Given the description of an element on the screen output the (x, y) to click on. 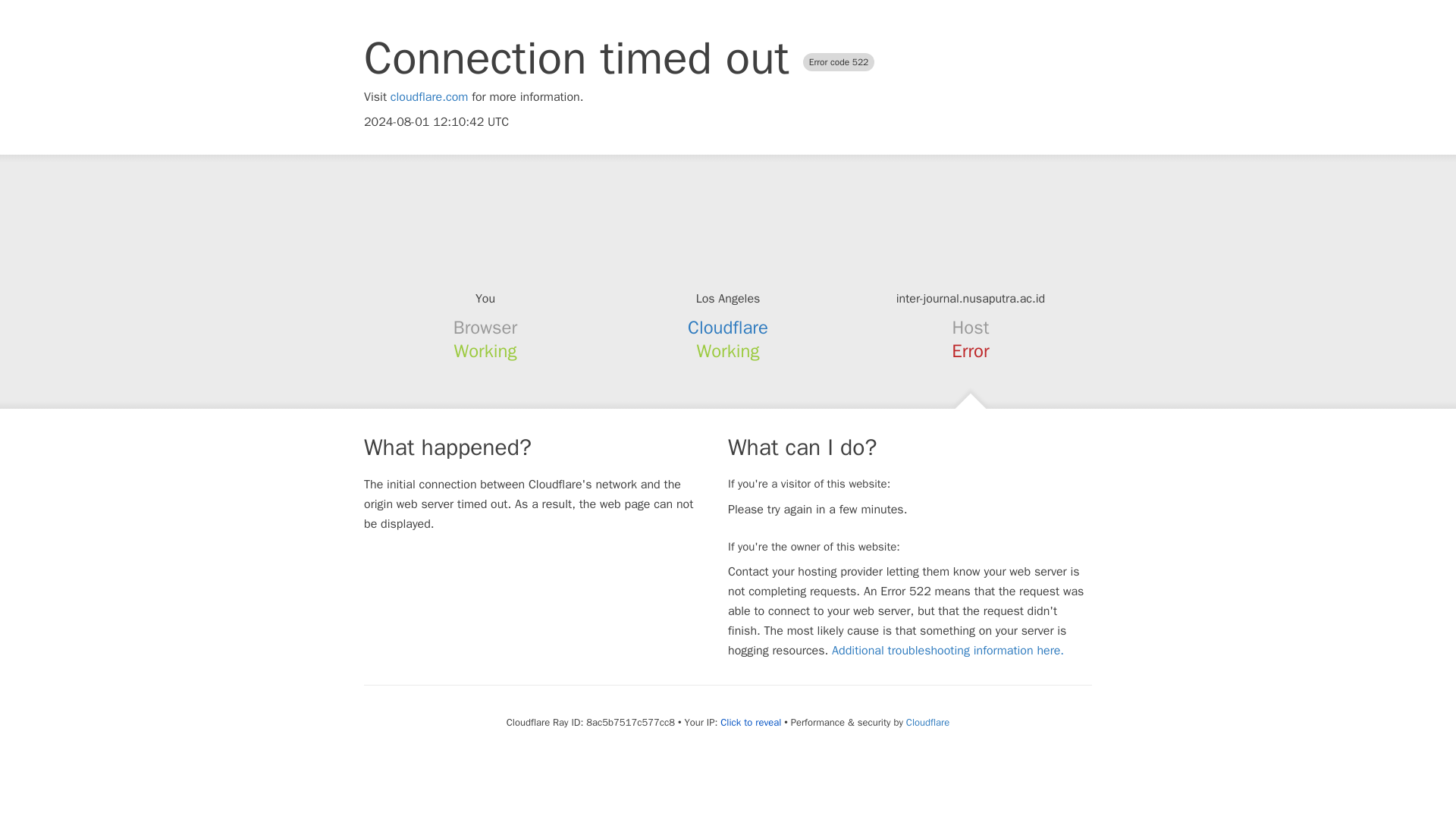
Additional troubleshooting information here. (947, 650)
cloudflare.com (429, 96)
Cloudflare (927, 721)
Click to reveal (750, 722)
Cloudflare (727, 327)
